Given the description of an element on the screen output the (x, y) to click on. 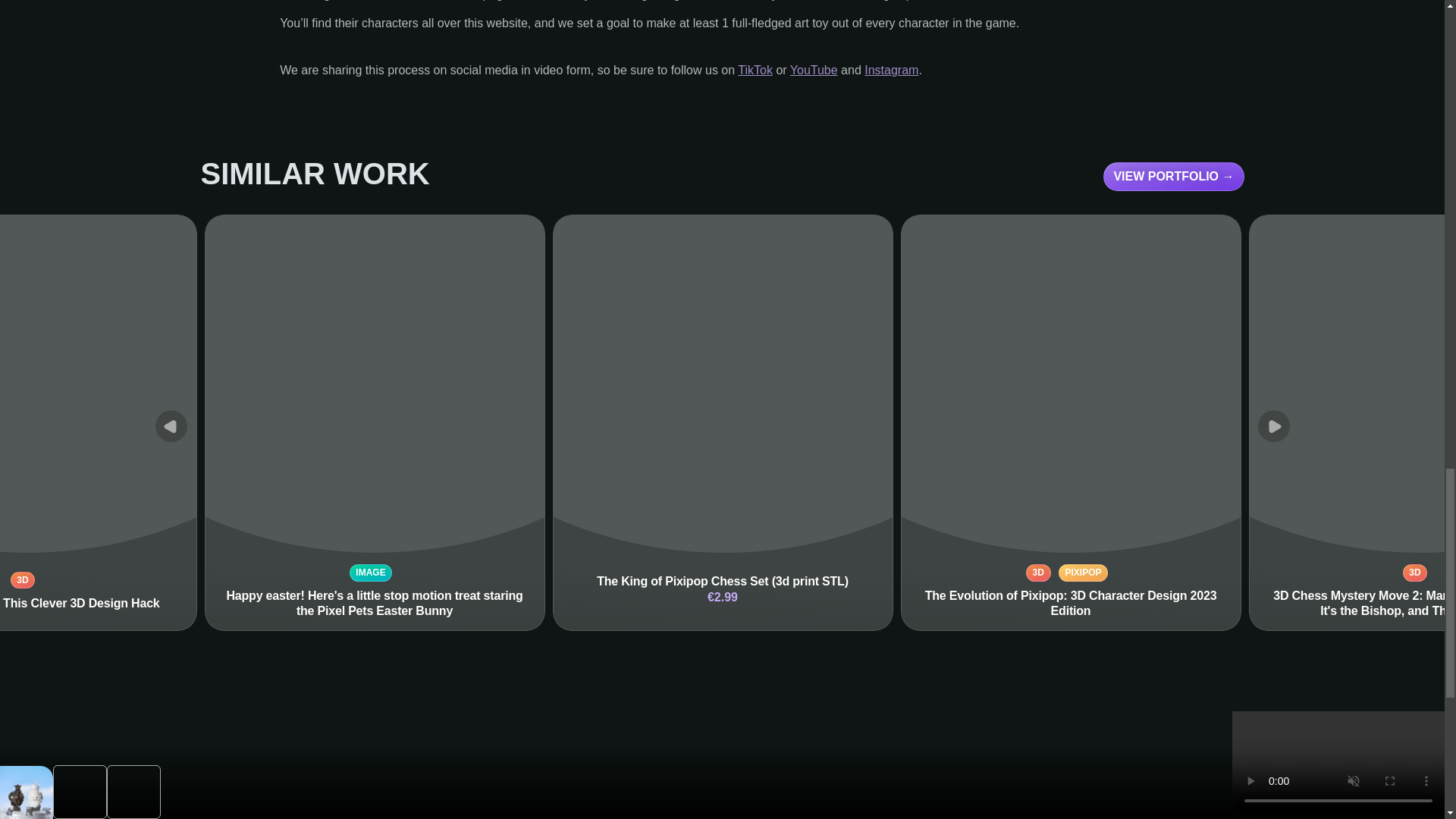
YouTube (814, 69)
Instagram (891, 69)
TikTok (755, 69)
3D (22, 579)
Previous (170, 426)
